Given the description of an element on the screen output the (x, y) to click on. 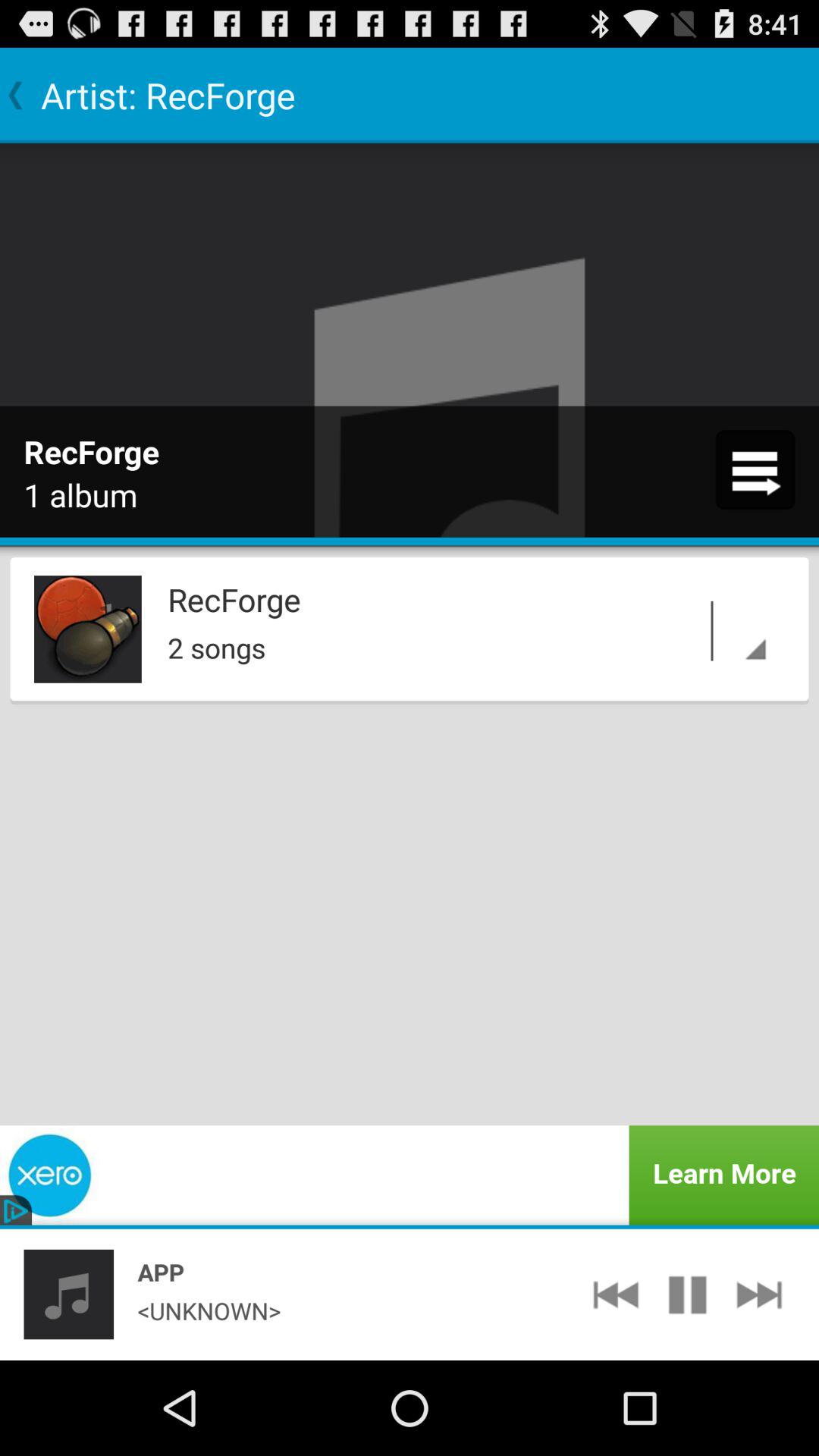
launch item below recforge (712, 630)
